Given the description of an element on the screen output the (x, y) to click on. 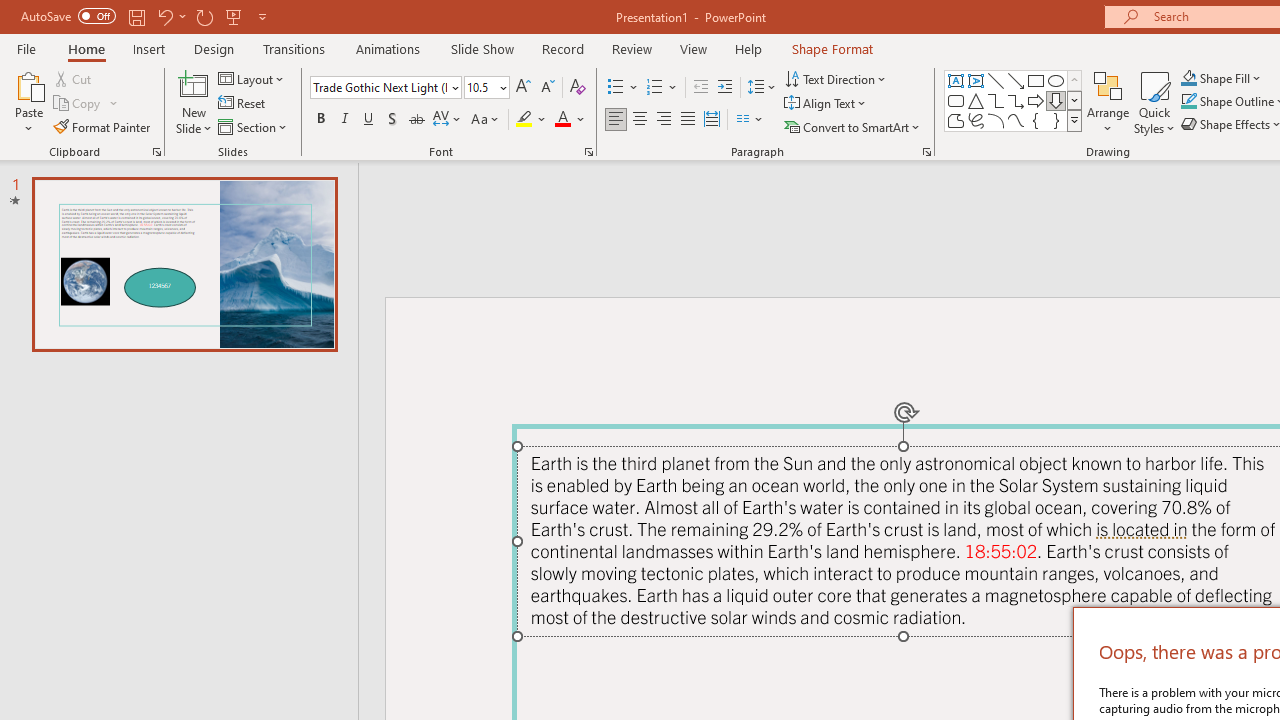
Align Text (826, 103)
Curve (1016, 120)
Arrow: Down (1055, 100)
Character Spacing (447, 119)
Font Color (569, 119)
Quick Access Toolbar (145, 16)
From Beginning (234, 15)
Redo (204, 15)
Text Box (955, 80)
Shape Fill Aqua, Accent 2 (1188, 78)
Animations (388, 48)
Arc (995, 120)
